Given the description of an element on the screen output the (x, y) to click on. 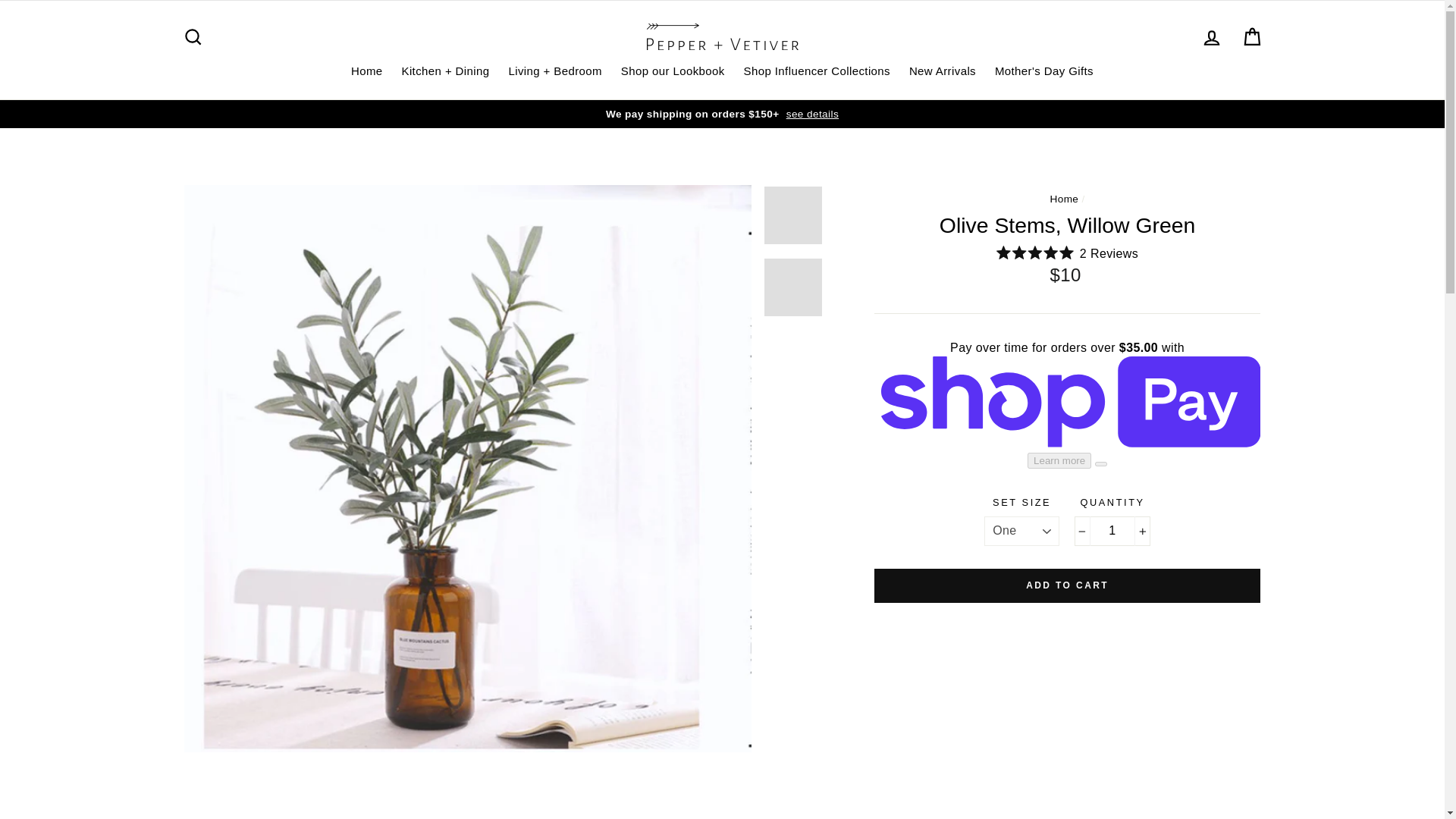
Back to the frontpage (1063, 198)
1 (1112, 531)
